Given the description of an element on the screen output the (x, y) to click on. 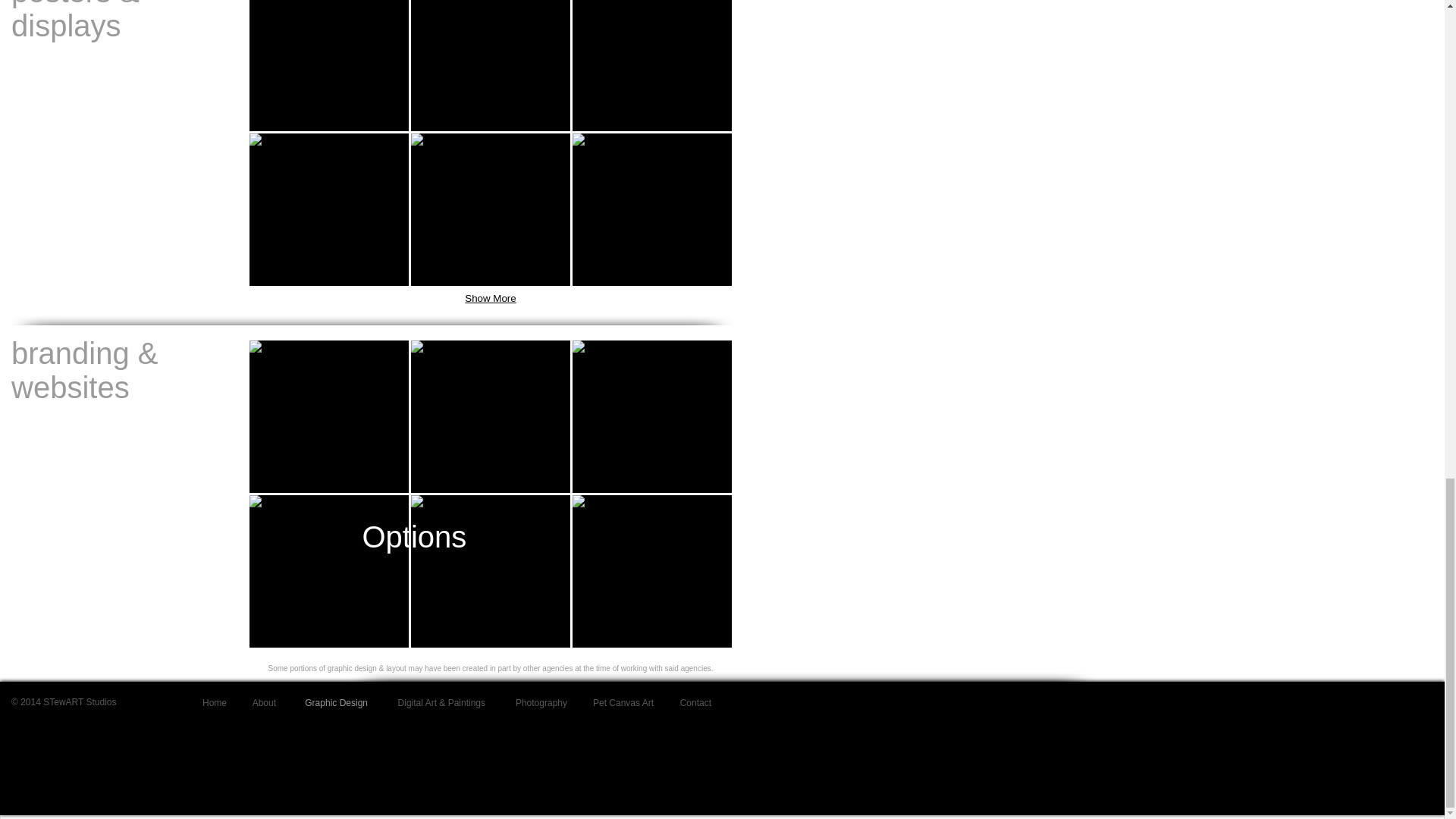
Contact (693, 702)
Pet Canvas Art (621, 702)
Home (212, 702)
Graphic Design (332, 702)
Photography (537, 702)
About (262, 702)
Show More (489, 299)
